Given the description of an element on the screen output the (x, y) to click on. 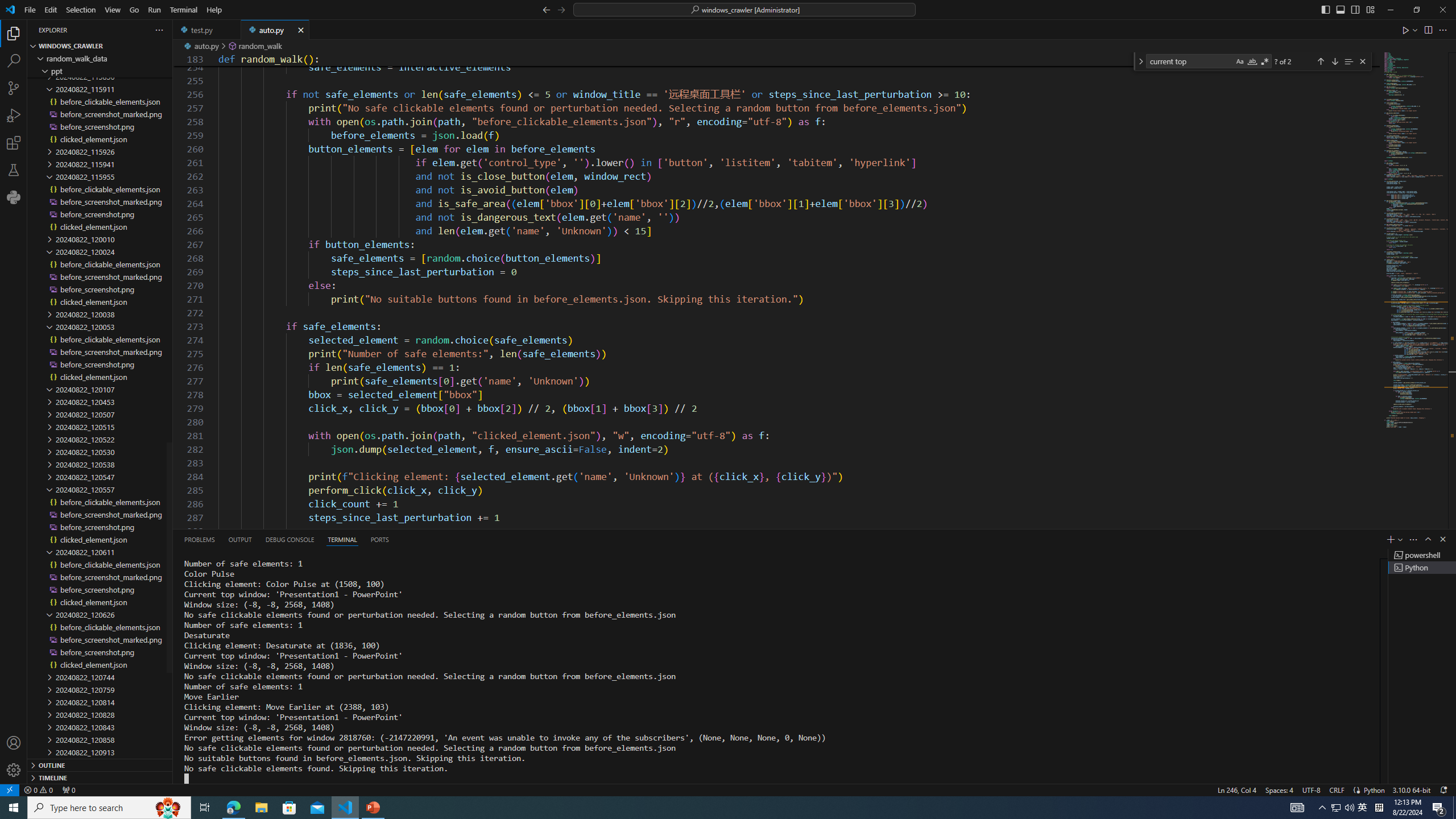
Accounts (13, 742)
Run (153, 9)
Split Editor Right (Ctrl+\) [Alt] Split Editor Down (1428, 29)
Toggle Primary Side Bar (Ctrl+B) (1325, 9)
Toggle Secondary Side Bar (Ctrl+Alt+B) (1355, 9)
Find in Selection (Alt+L) (1348, 60)
Run or Debug... (1414, 29)
Run and Debug (Ctrl+Shift+D) (13, 115)
Run Python File (1405, 29)
Manage (13, 755)
Explorer Section: windows_crawler (99, 46)
CRLF (1336, 789)
Ln 246, Col 4 (1236, 789)
